Given the description of an element on the screen output the (x, y) to click on. 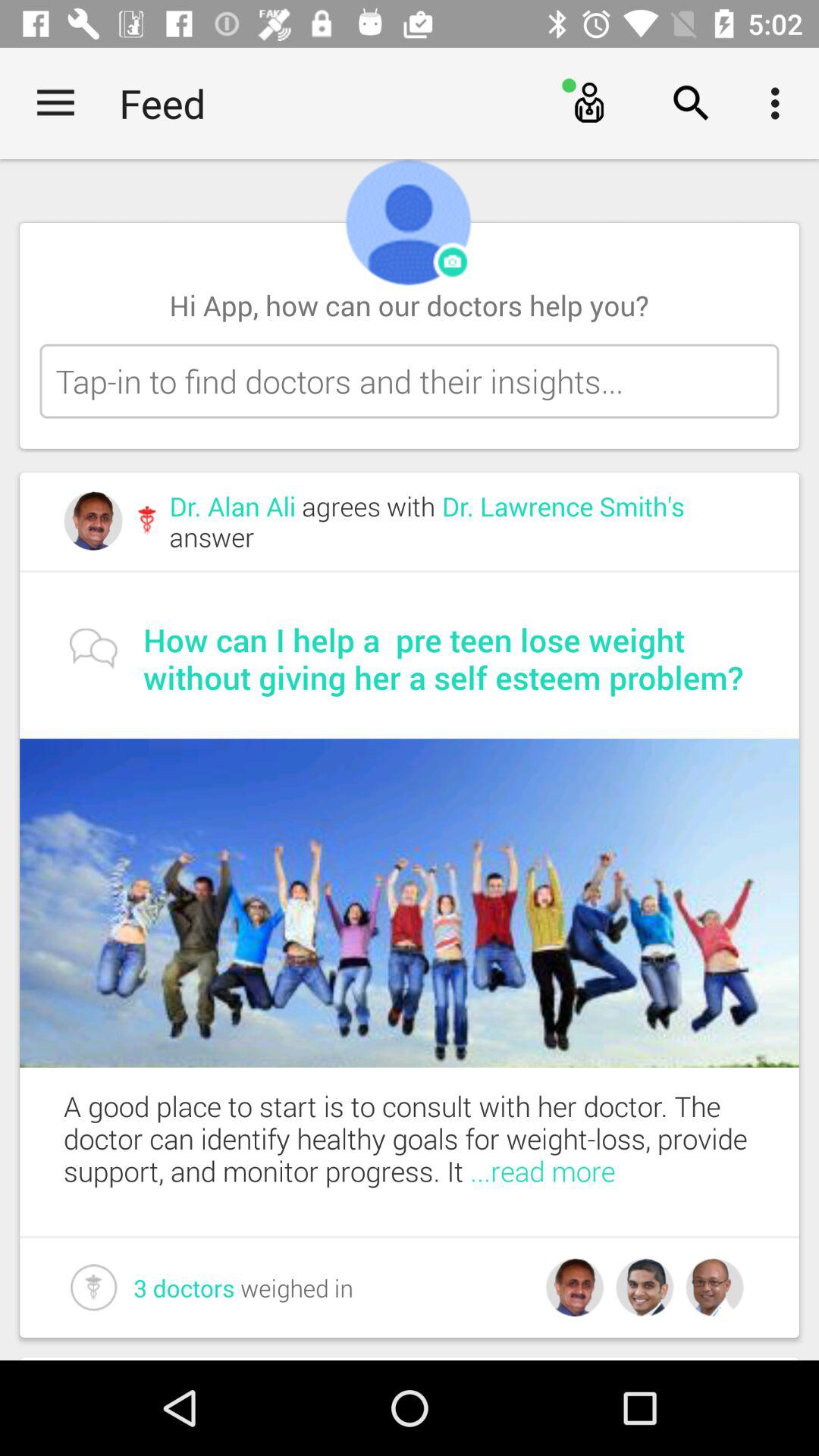
turn off item above the dr alan ali item (409, 381)
